Given the description of an element on the screen output the (x, y) to click on. 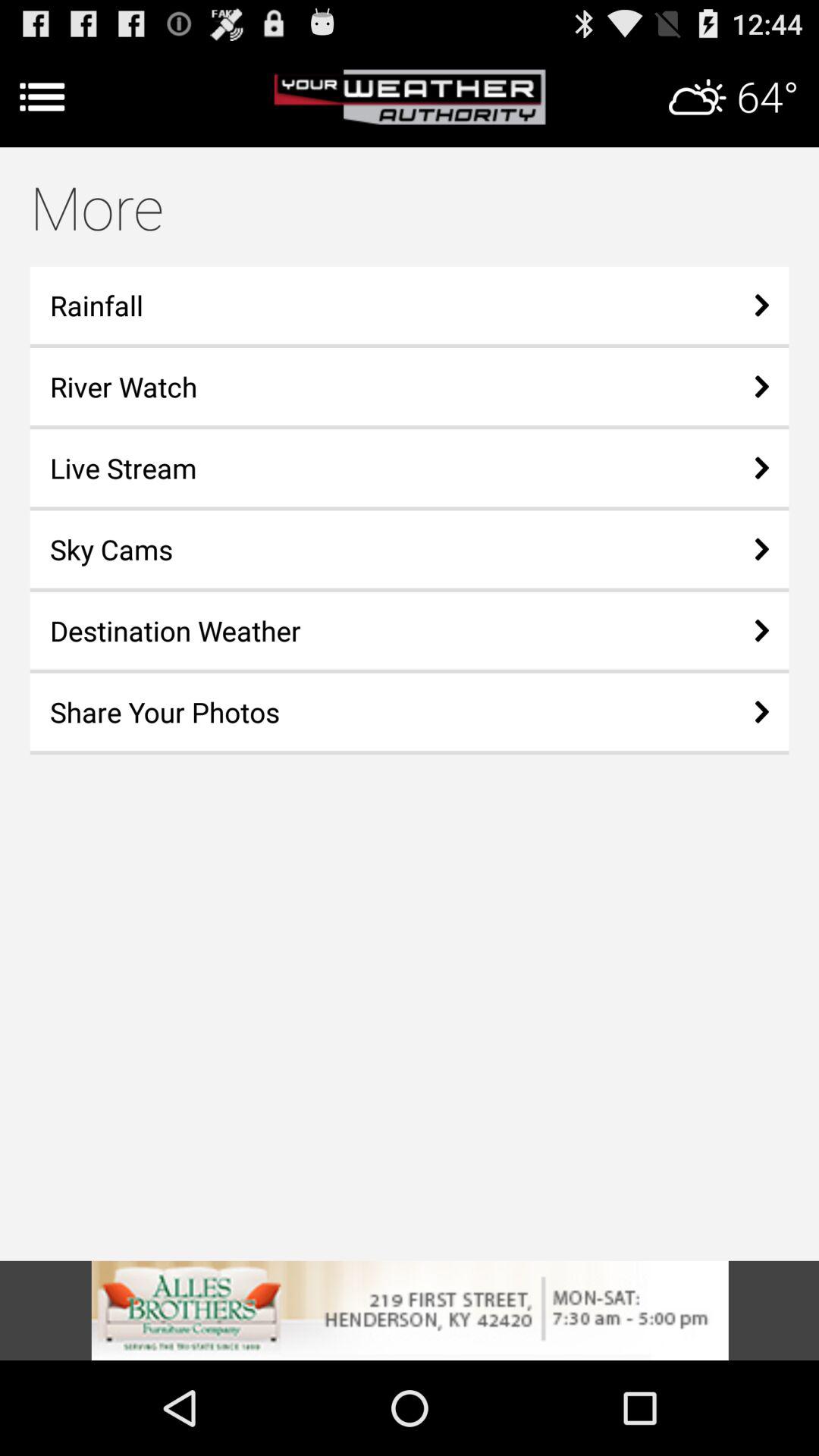
learn more about this advertisement (409, 1310)
